Given the description of an element on the screen output the (x, y) to click on. 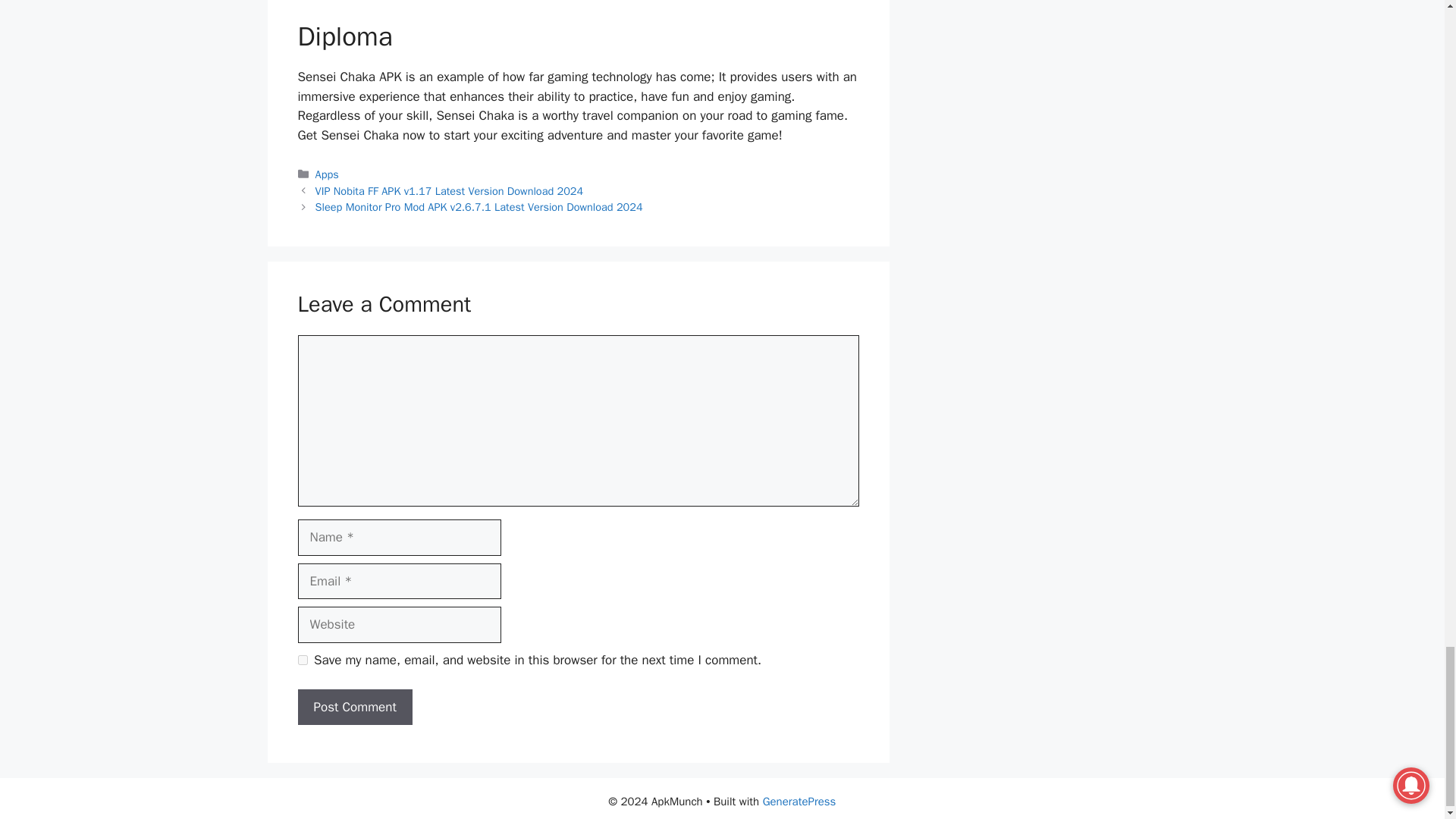
VIP Nobita FF APK v1.17 Latest Version Download 2024 (449, 191)
Post Comment (354, 707)
Post Comment (354, 707)
yes (302, 660)
Apps (327, 173)
